Given the description of an element on the screen output the (x, y) to click on. 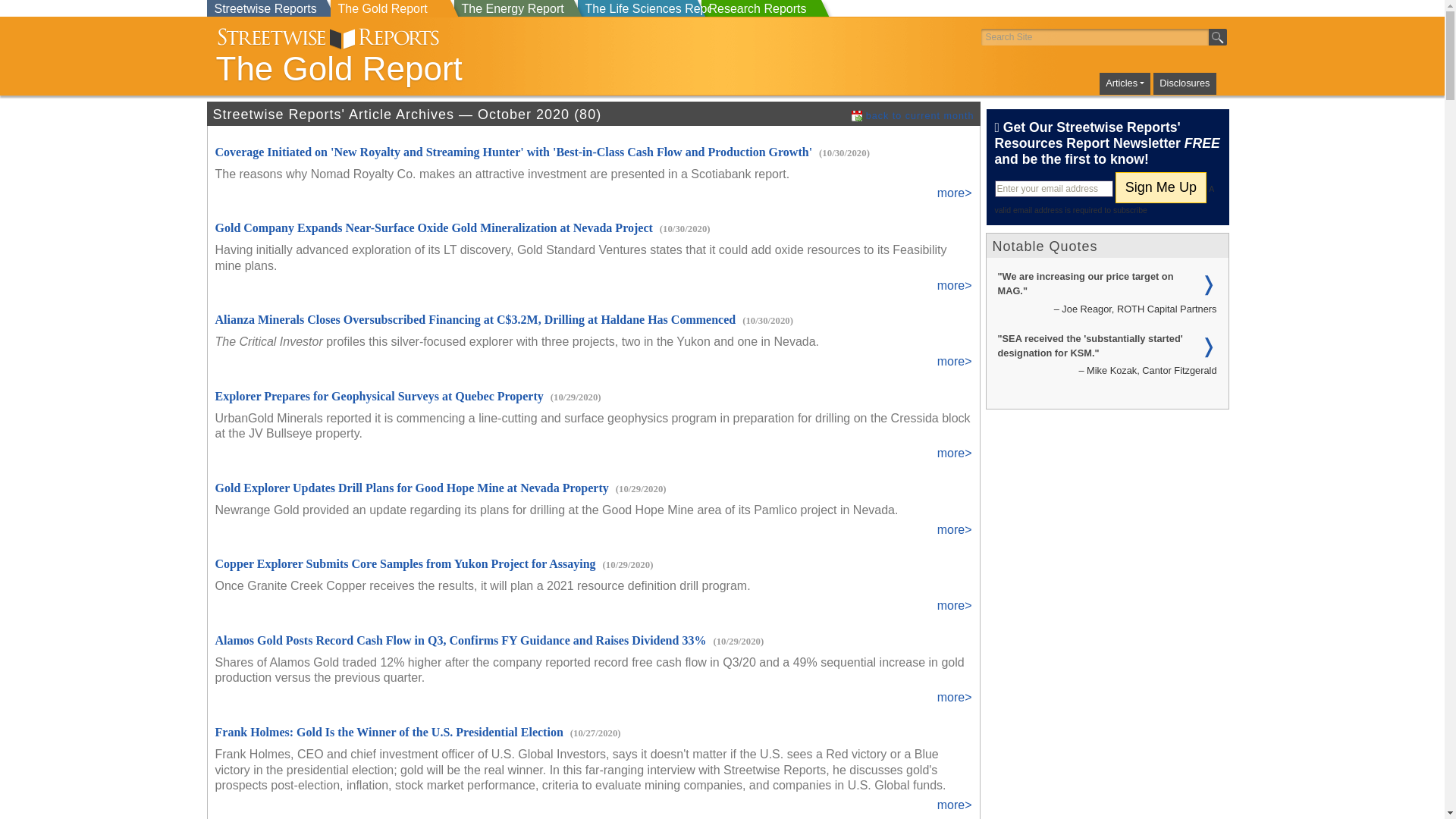
back to current month (912, 115)
Search (1217, 36)
The Gold Report (464, 68)
Explorer Prepares for Geophysical Surveys at Quebec Property (379, 395)
Explorer Prepares for Geophysical Surveys at Quebec Property (379, 395)
Disclosures (1184, 83)
Articles (1124, 83)
